Given the description of an element on the screen output the (x, y) to click on. 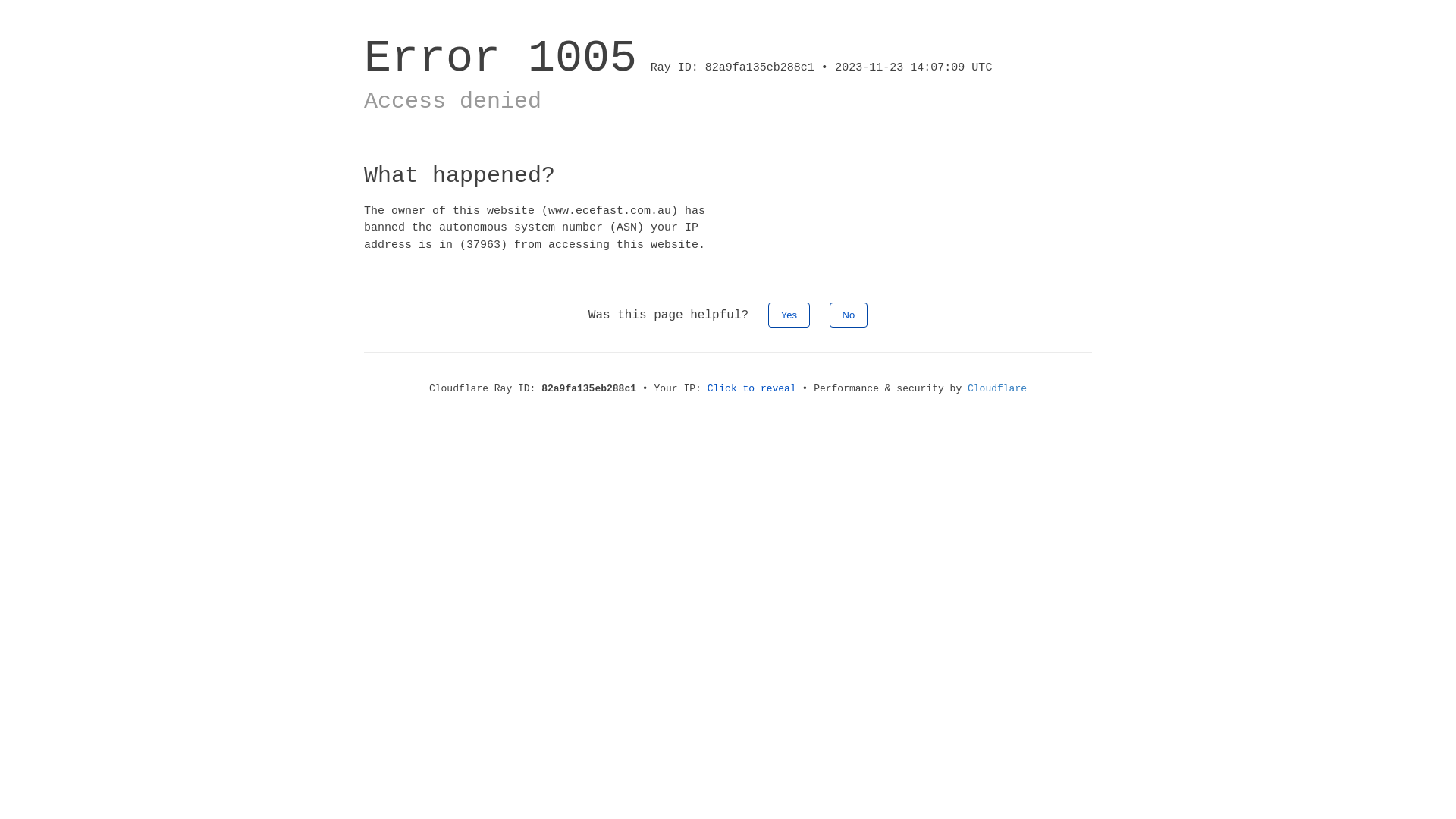
Cloudflare Element type: text (996, 388)
Yes Element type: text (788, 314)
No Element type: text (848, 314)
Click to reveal Element type: text (751, 388)
